Given the description of an element on the screen output the (x, y) to click on. 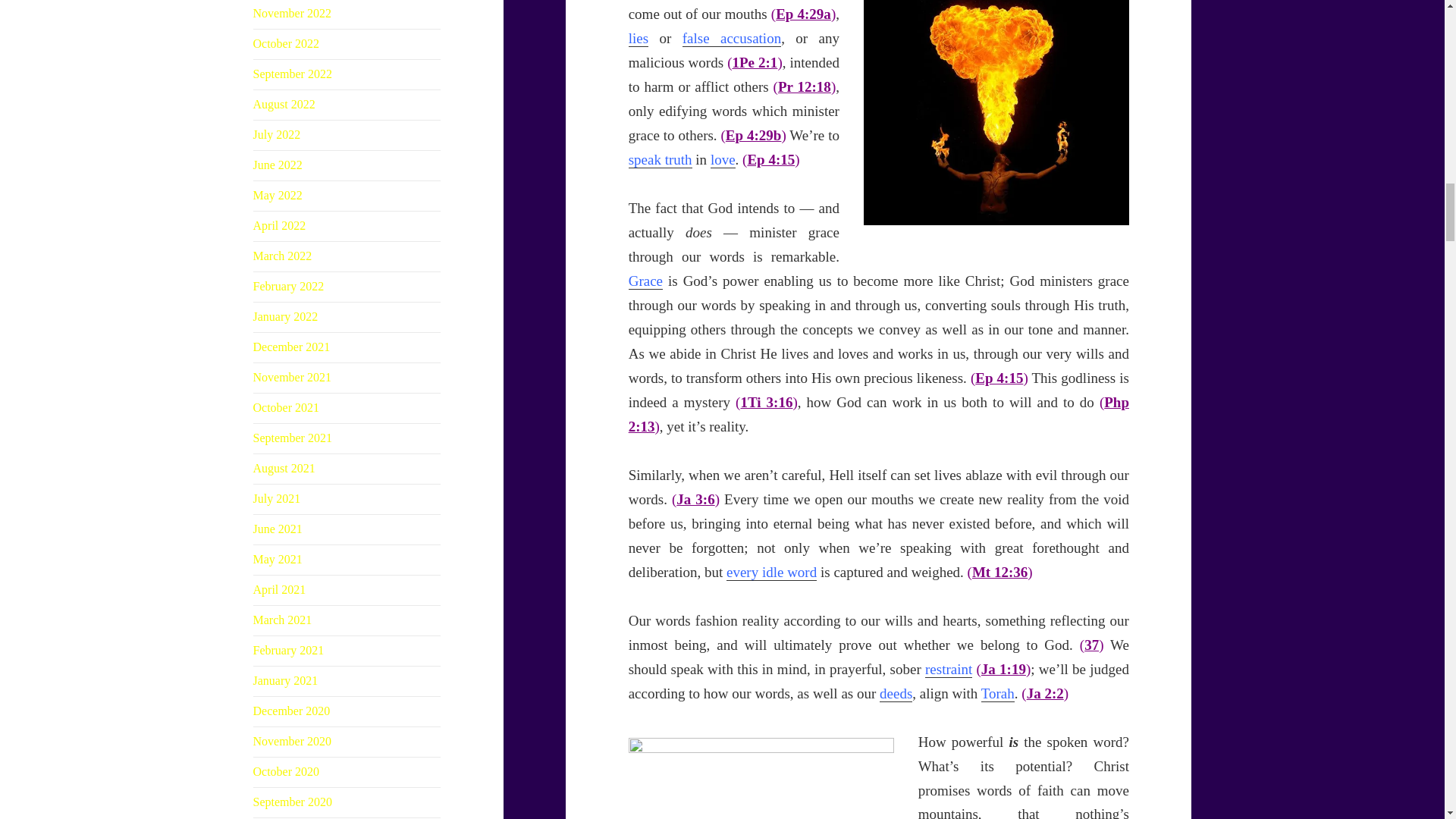
Let no corrupt communication proceed out of your mouth, (803, 13)
